Given the description of an element on the screen output the (x, y) to click on. 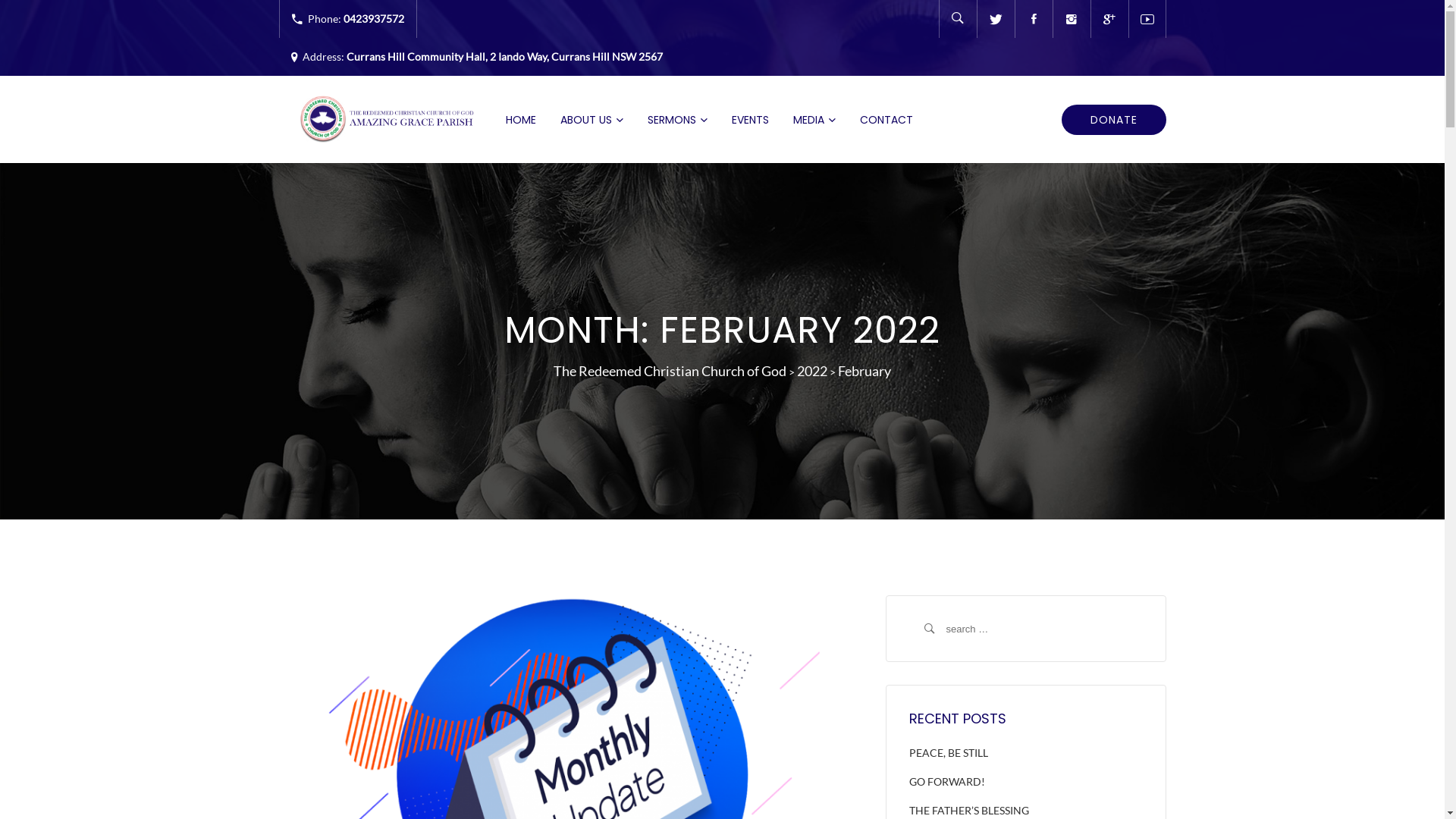
DONATE Element type: text (1113, 119)
SERMONS Element type: text (677, 119)
Tumblr Element type: hover (1071, 18)
HOME Element type: text (520, 119)
2022 Element type: text (812, 370)
PEACE, BE STILL Element type: text (947, 752)
GO FORWARD! Element type: text (946, 781)
CONTACT Element type: text (886, 119)
ABOUT US Element type: text (590, 119)
Youtube Element type: hover (1147, 18)
Twitter Element type: hover (995, 18)
EVENTS Element type: text (749, 119)
MEDIA Element type: text (814, 119)
The Redeemed Christian Church of God Element type: text (669, 370)
Search Element type: text (1142, 609)
Facebook Element type: hover (1033, 18)
Google Element type: hover (1109, 18)
